Given the description of an element on the screen output the (x, y) to click on. 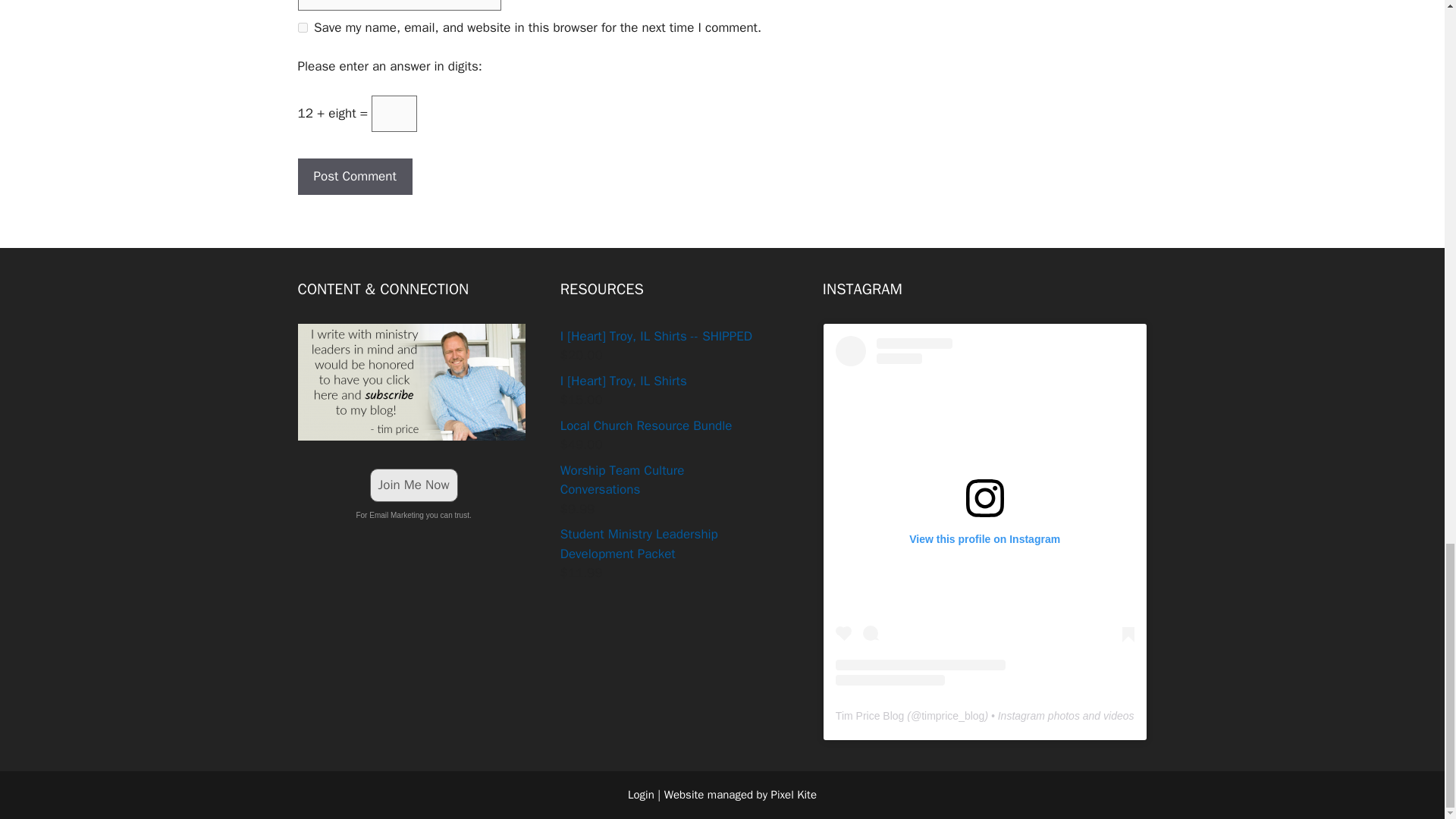
Post Comment (354, 176)
yes (302, 27)
Post Comment (354, 176)
